Given the description of an element on the screen output the (x, y) to click on. 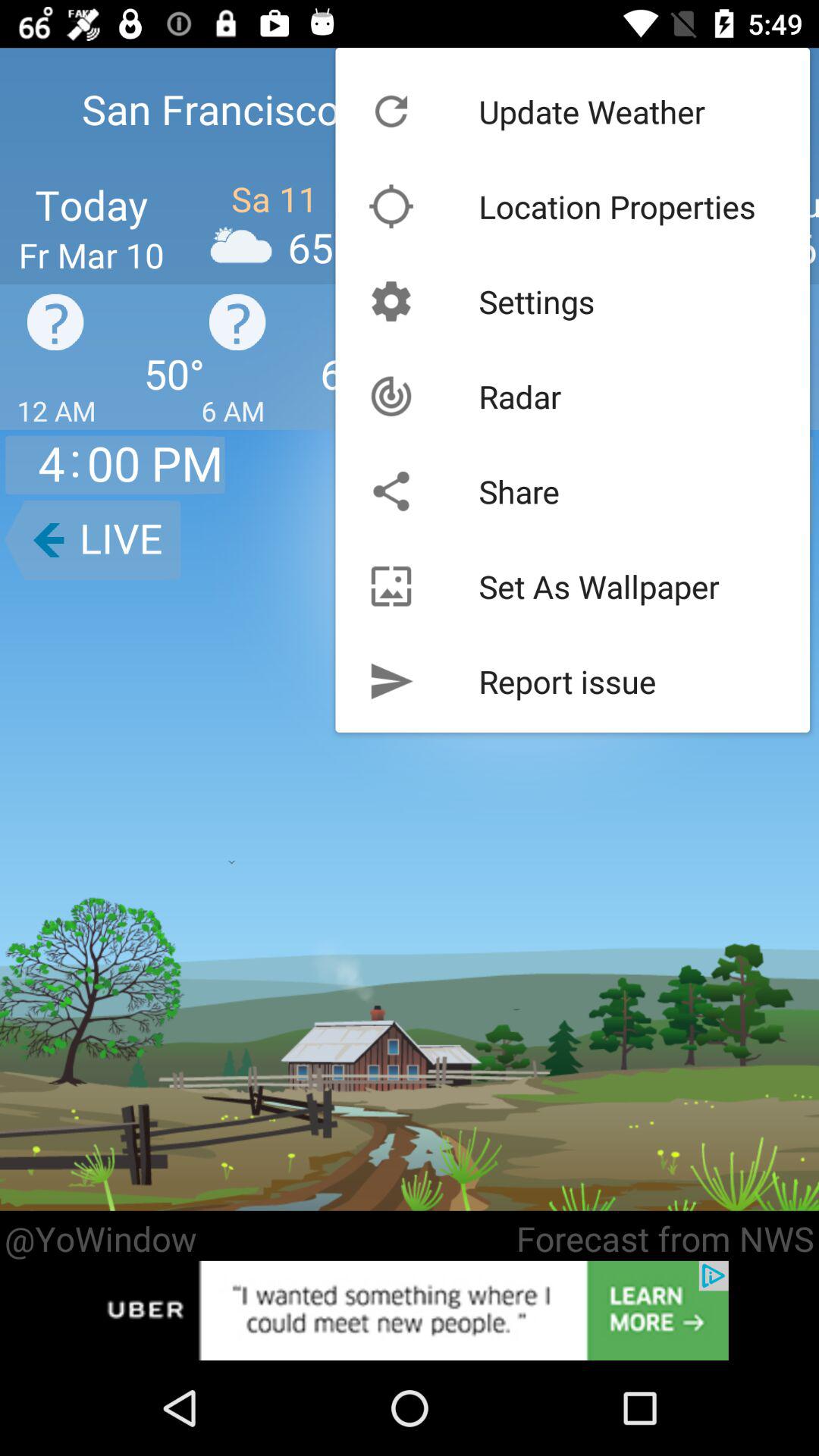
tap radar icon (519, 396)
